Given the description of an element on the screen output the (x, y) to click on. 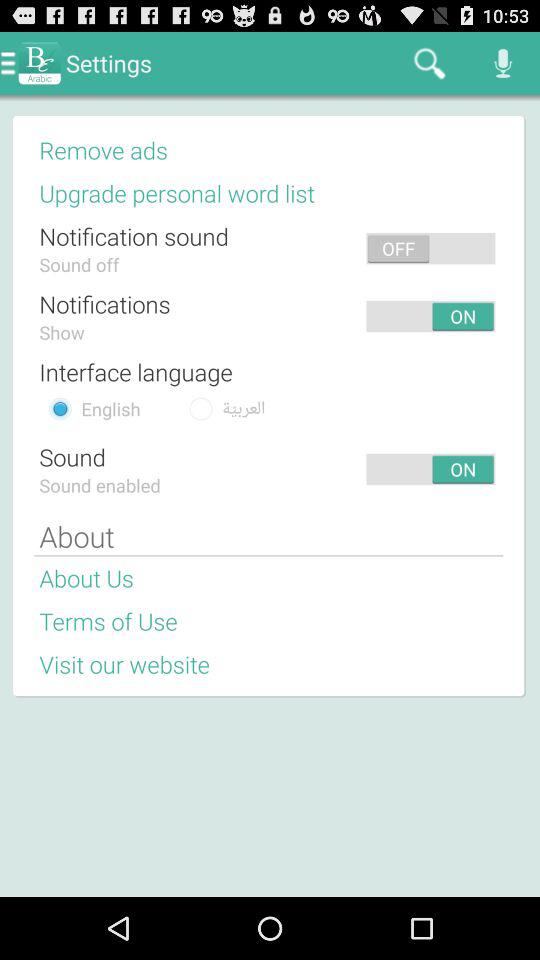
press the visit our website at the bottom left corner (124, 664)
